Given the description of an element on the screen output the (x, y) to click on. 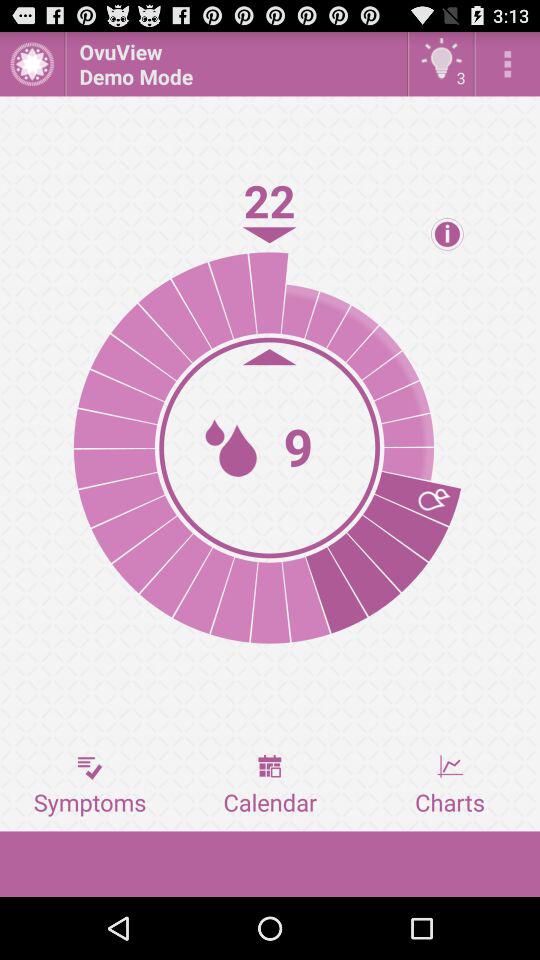
select menu (507, 63)
